Given the description of an element on the screen output the (x, y) to click on. 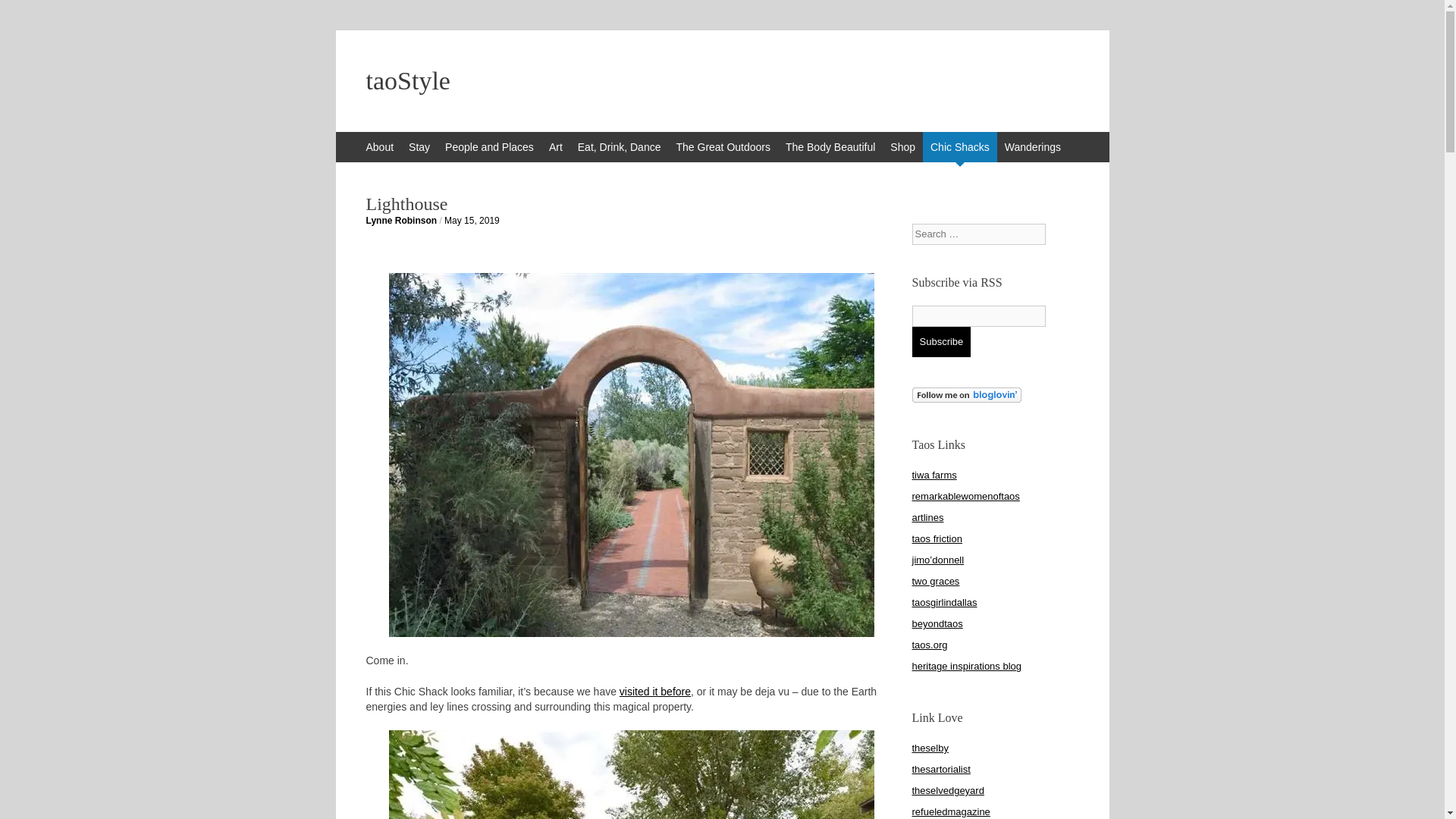
About (379, 146)
Art (555, 146)
visited it before (655, 691)
tiwa farms (933, 474)
May 15, 2019 (471, 220)
remarkablewomenoftaos (965, 496)
Skip to content (342, 139)
People and Places (489, 146)
Stay (419, 146)
Shop (902, 146)
The Great Outdoors (722, 146)
Lynne Robinson (400, 220)
Search (23, 15)
Subscribe (941, 341)
Eat, Drink, Dance (619, 146)
